Given the description of an element on the screen output the (x, y) to click on. 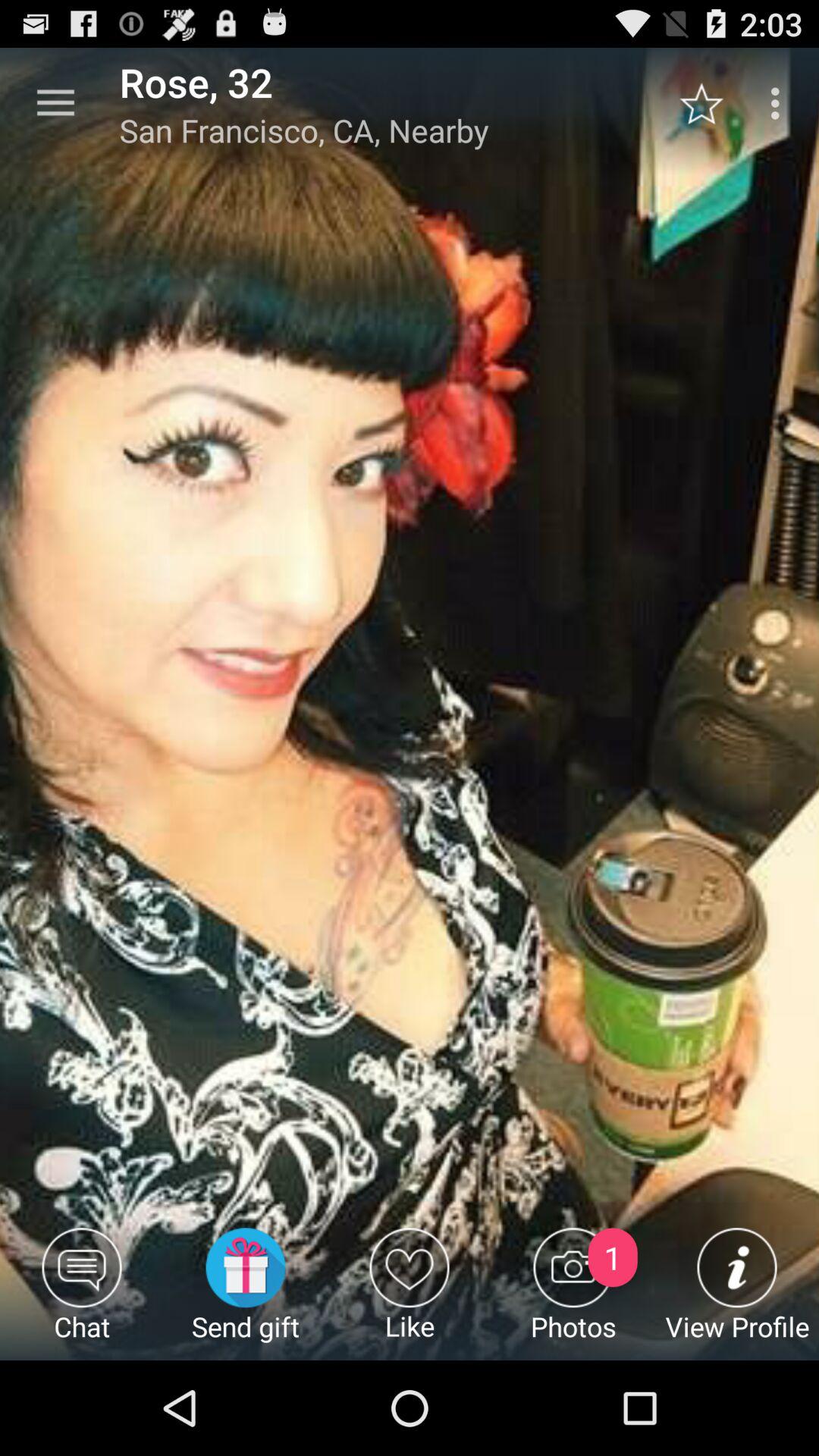
turn off item to the left of view profile icon (573, 1293)
